Given the description of an element on the screen output the (x, y) to click on. 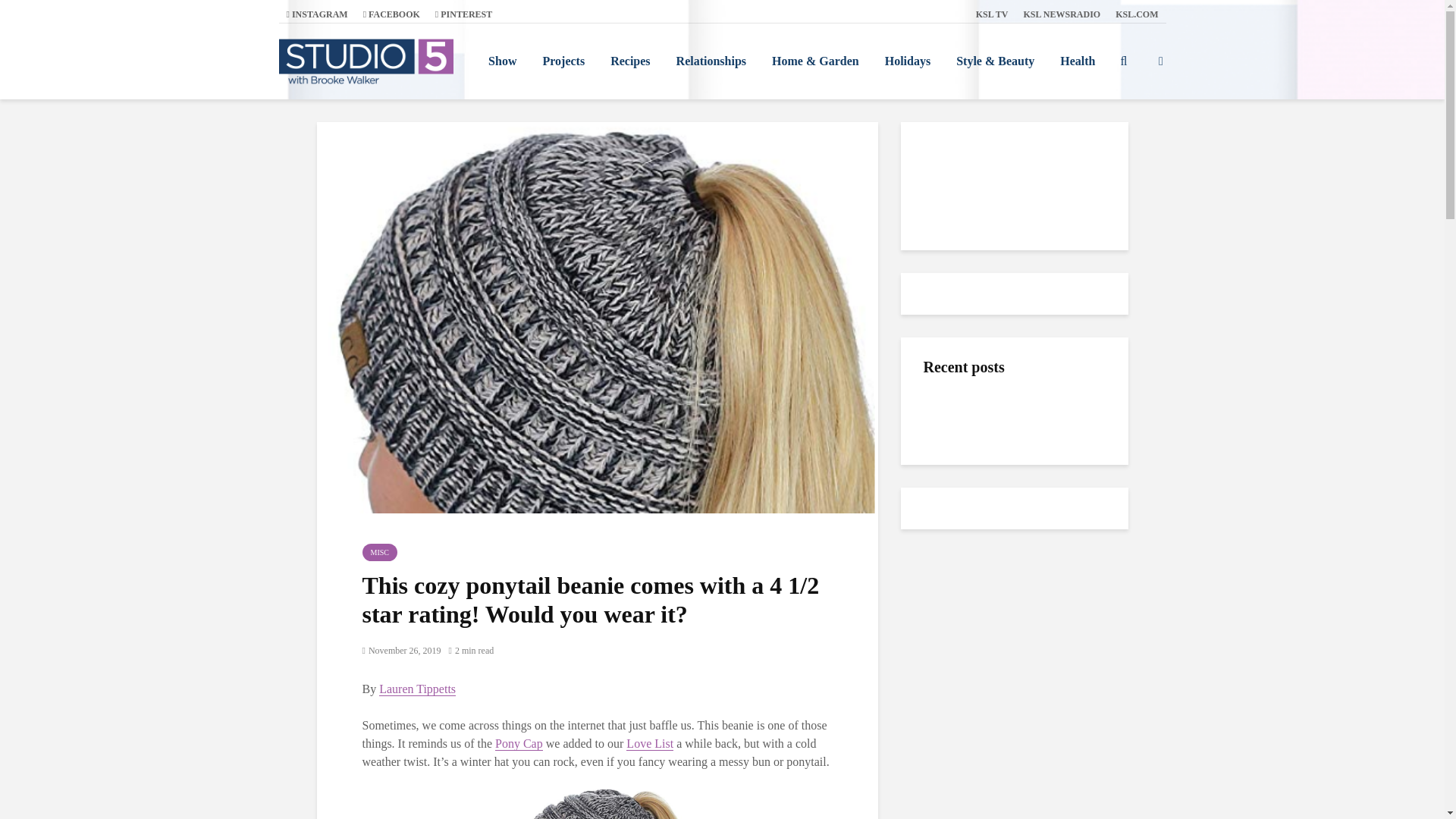
FACEBOOK (391, 14)
Holidays (907, 60)
KSL NEWSRADIO (1061, 14)
MISC (379, 552)
Love List (649, 744)
PINTEREST (463, 14)
Show (502, 60)
Projects (563, 60)
Health (1077, 60)
KSL.COM (1137, 14)
